Given the description of an element on the screen output the (x, y) to click on. 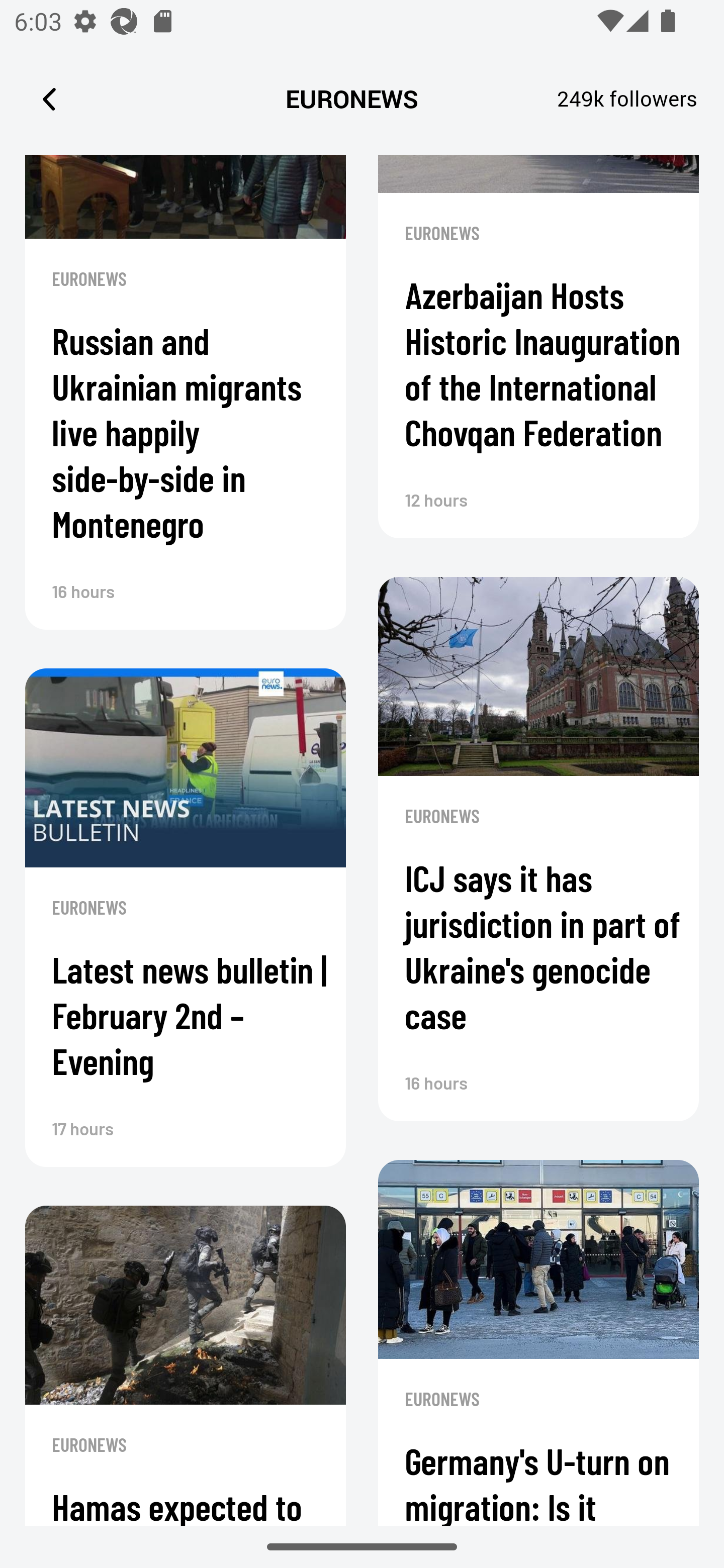
Leading Icon (49, 98)
